Given the description of an element on the screen output the (x, y) to click on. 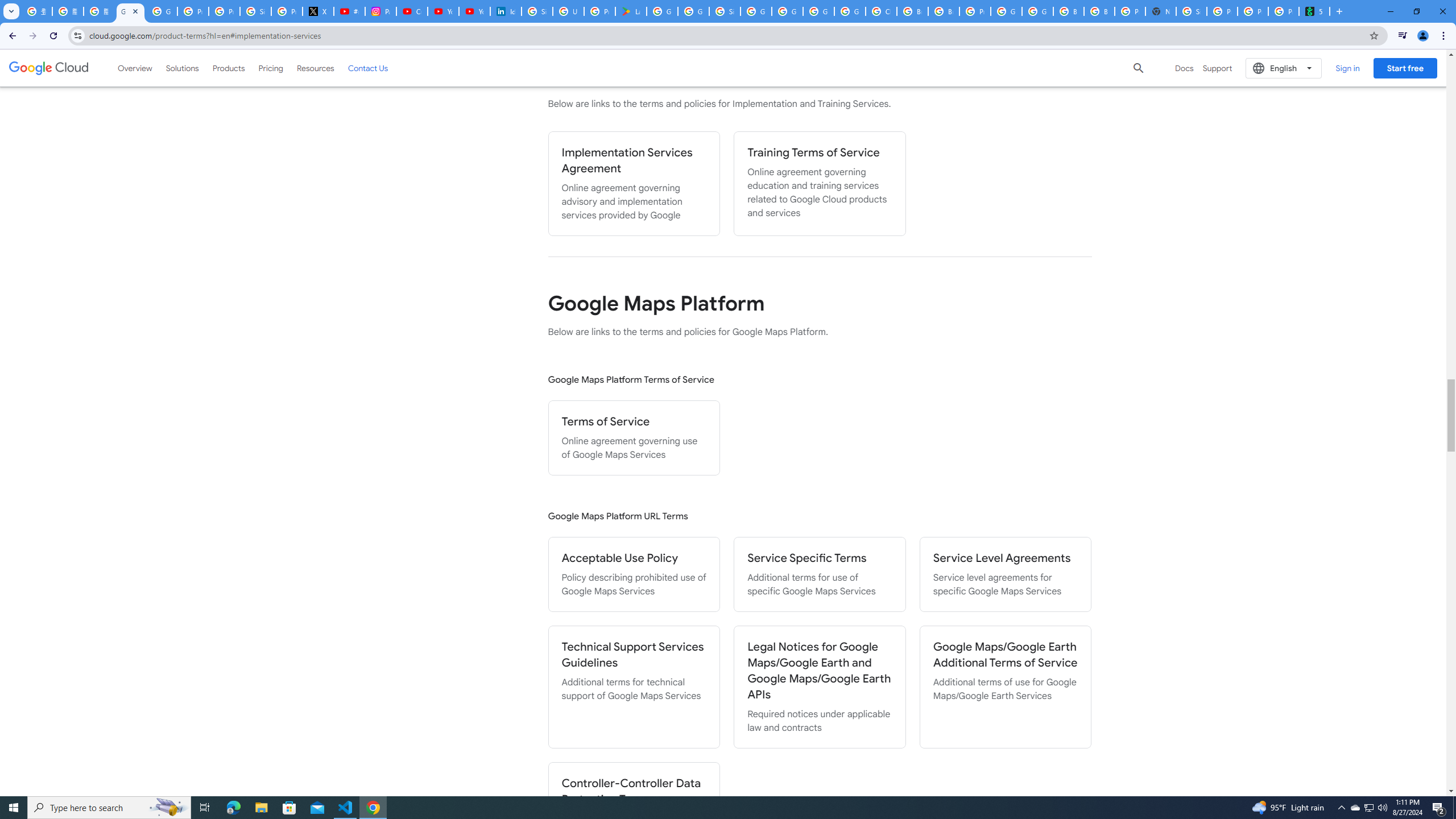
X (318, 11)
Sign in - Google Accounts (255, 11)
Support (1216, 67)
Privacy Help Center - Policies Help (223, 11)
Browse Chrome as a guest - Computer - Google Chrome Help (1068, 11)
Google Cloud Platform (1005, 11)
